Given the description of an element on the screen output the (x, y) to click on. 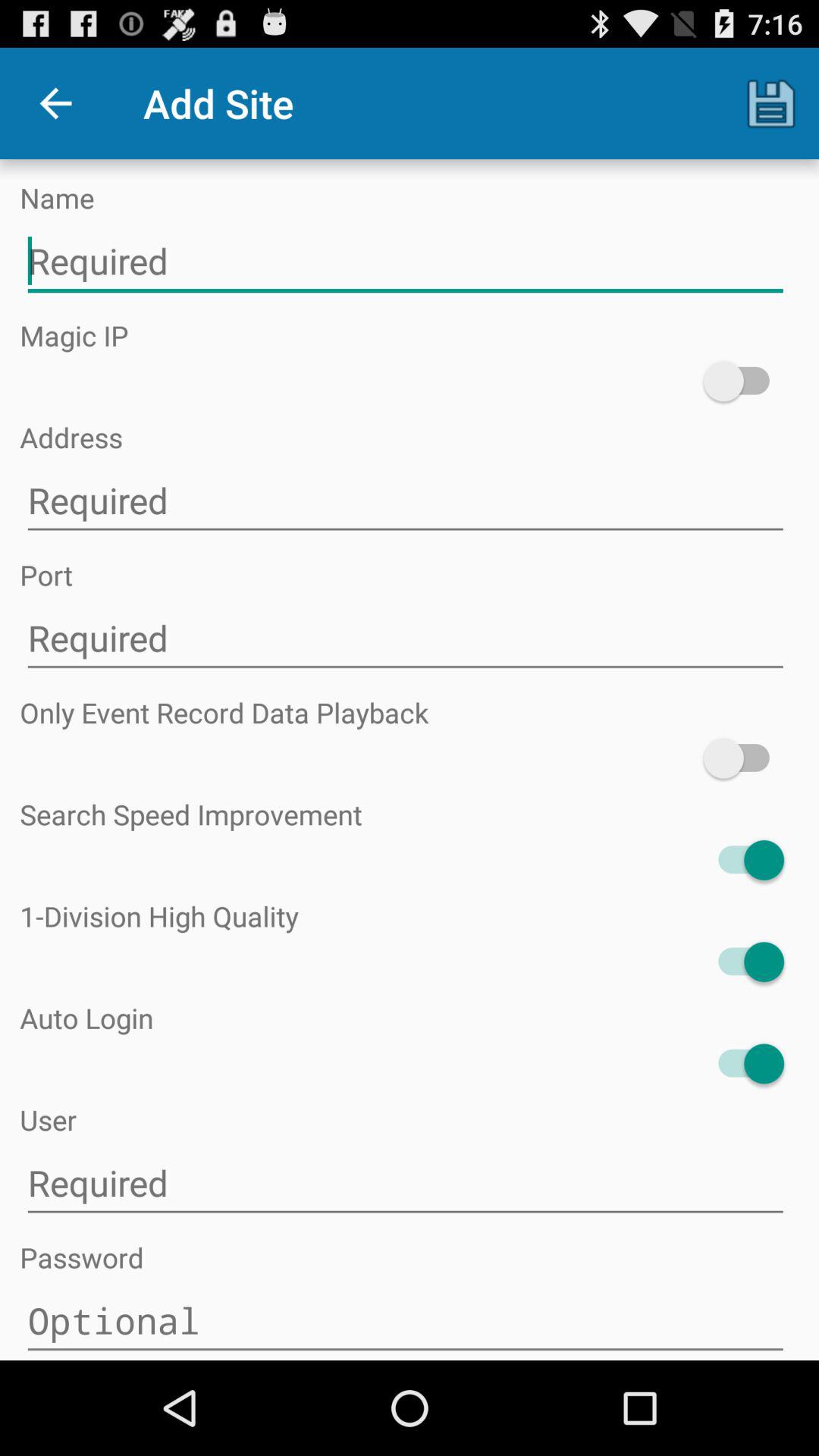
tap the item below the 1 division high icon (743, 962)
